Given the description of an element on the screen output the (x, y) to click on. 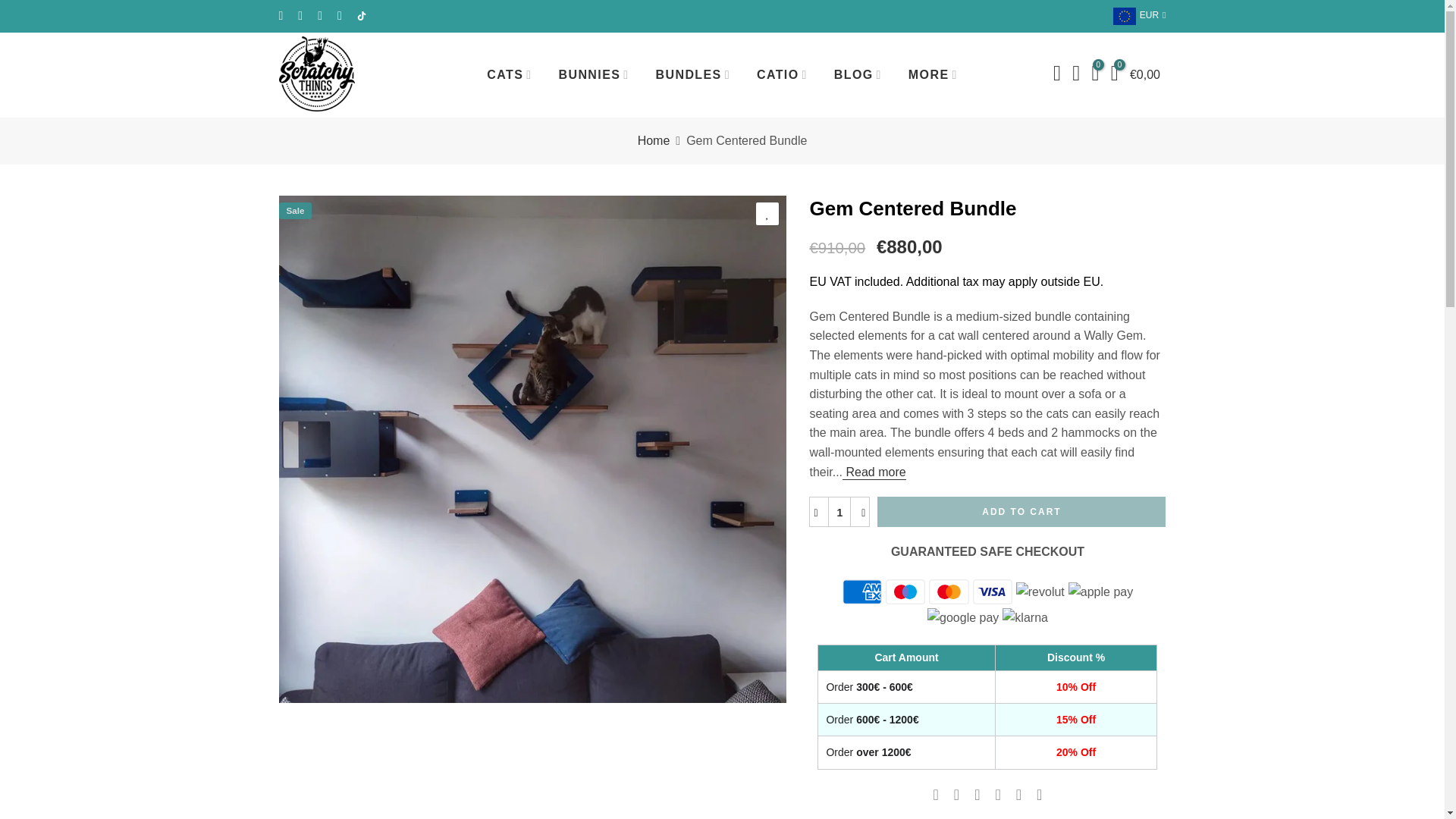
CATS (509, 74)
